Given the description of an element on the screen output the (x, y) to click on. 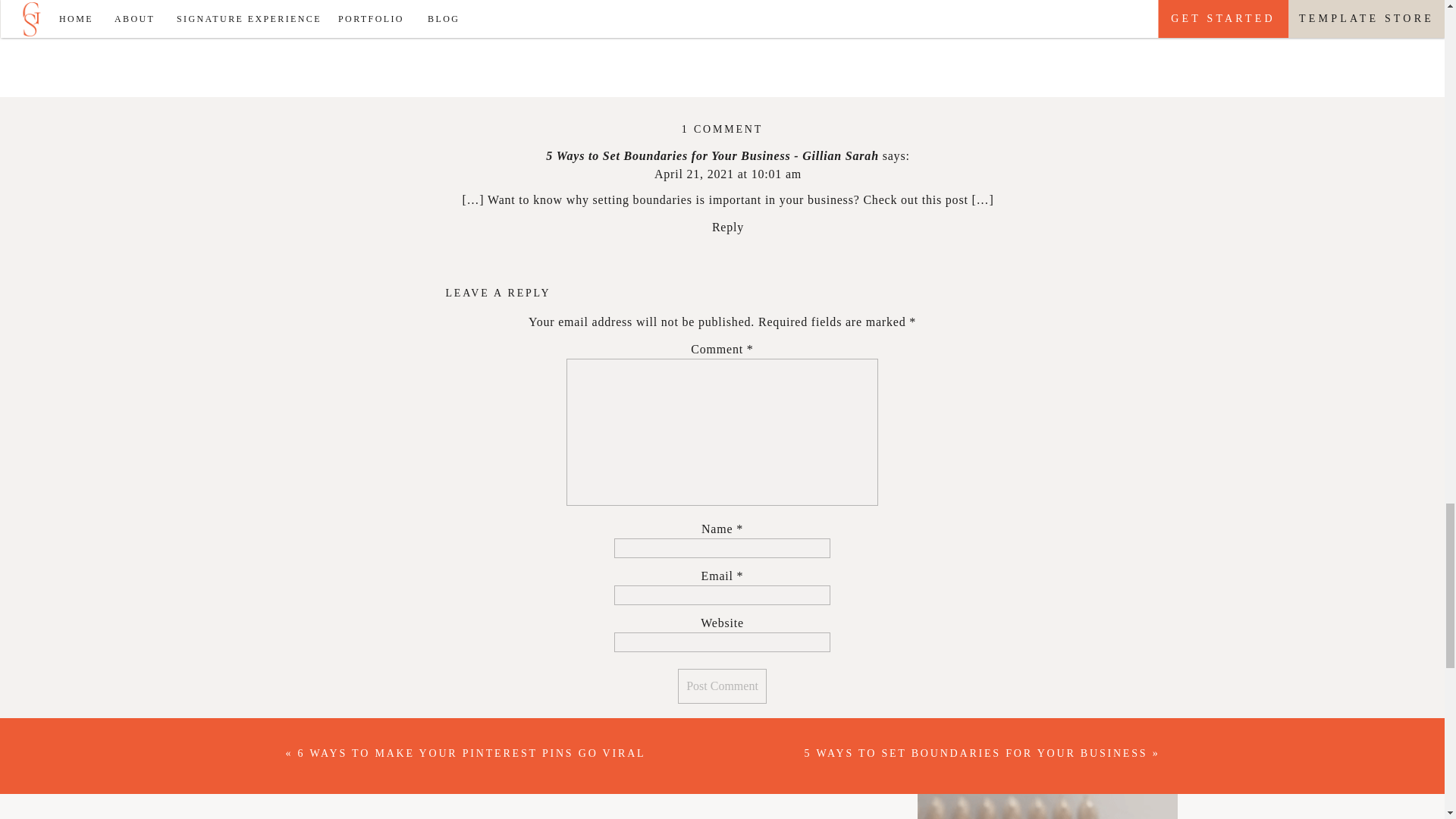
Post Comment (722, 686)
6 WAYS TO MAKE YOUR PINTEREST PINS GO VIRAL (472, 753)
5 Ways to Set Boundaries for Your Business - Gillian Sarah (712, 155)
Post Comment (722, 686)
April 21, 2021 at 10:01 am (727, 173)
5 WAYS TO SET BOUNDARIES FOR YOUR BUSINESS (976, 753)
Reply (727, 226)
